Given the description of an element on the screen output the (x, y) to click on. 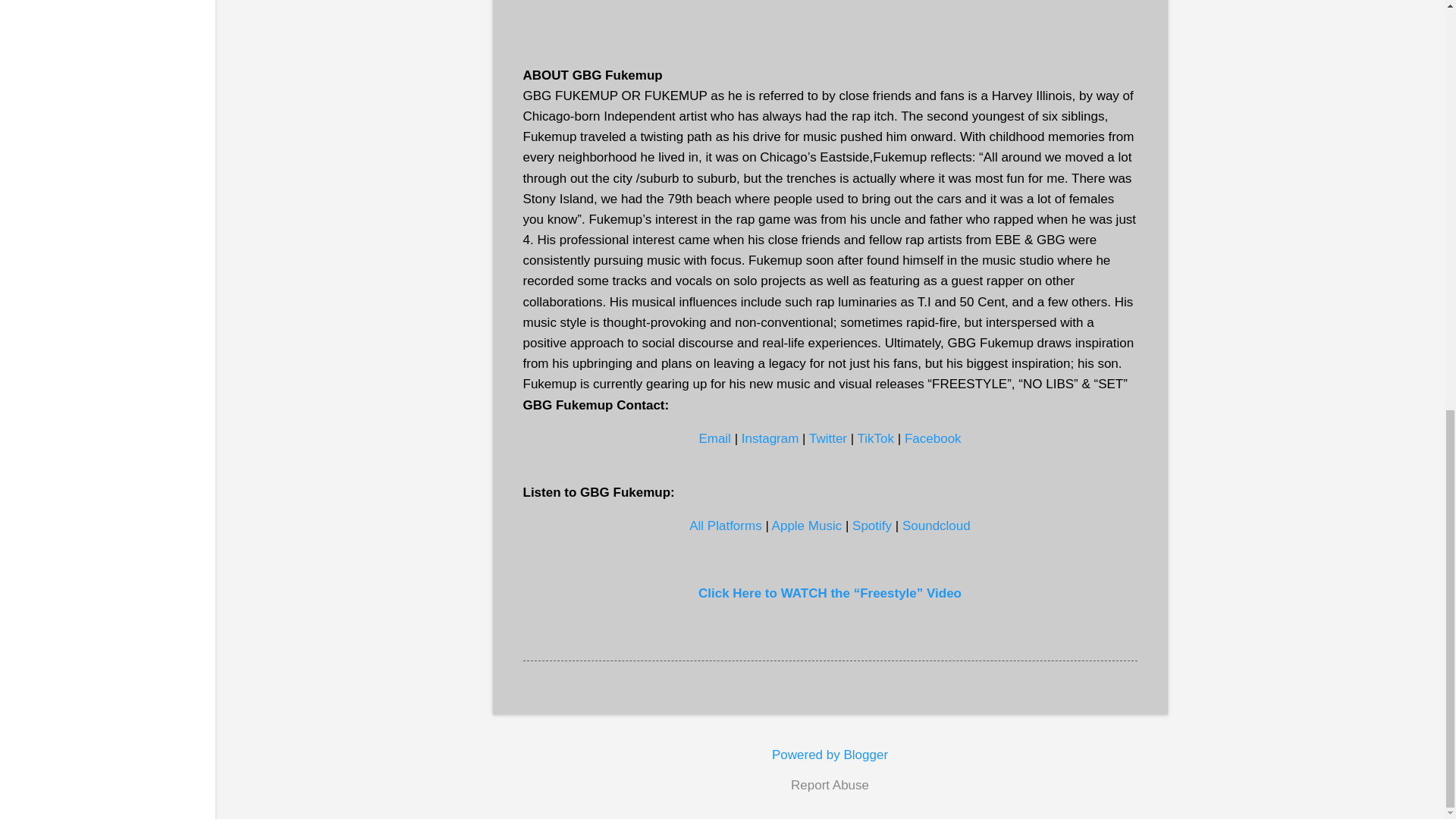
Report Abuse (829, 785)
Email (714, 438)
All Platforms (724, 525)
Twitter (828, 438)
Spotify (871, 525)
Instagram (770, 438)
YouTube video player (829, 12)
TikTok (876, 438)
Powered by Blogger (829, 754)
Facebook (932, 438)
Apple Music (807, 525)
Soundcloud (936, 525)
